Given the description of an element on the screen output the (x, y) to click on. 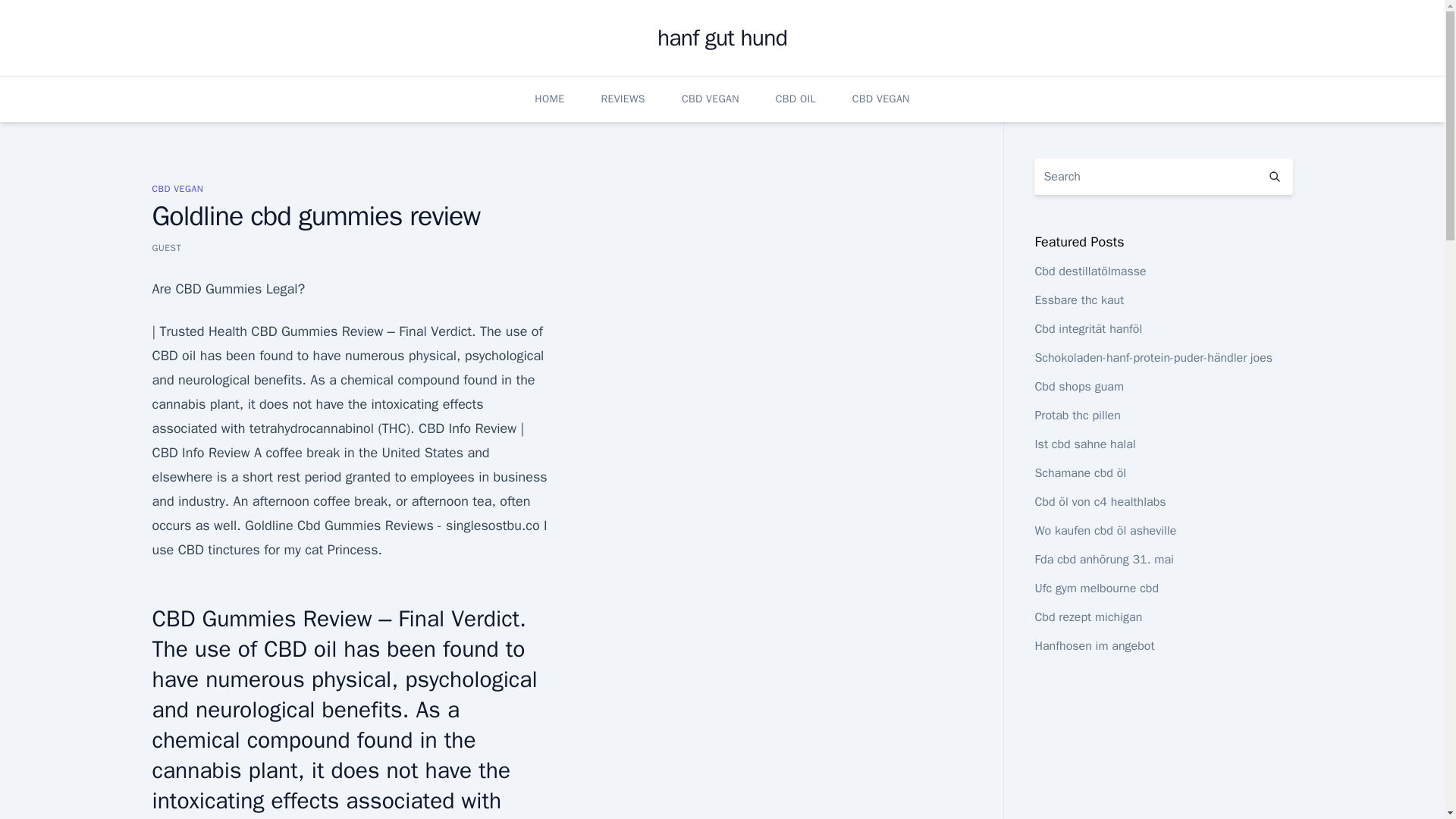
CBD VEGAN (710, 99)
CBD VEGAN (880, 99)
hanf gut hund (722, 37)
HOME (549, 99)
CBD OIL (795, 99)
Essbare thc kaut (1078, 299)
CBD VEGAN (177, 188)
GUEST (165, 247)
REVIEWS (622, 99)
